Given the description of an element on the screen output the (x, y) to click on. 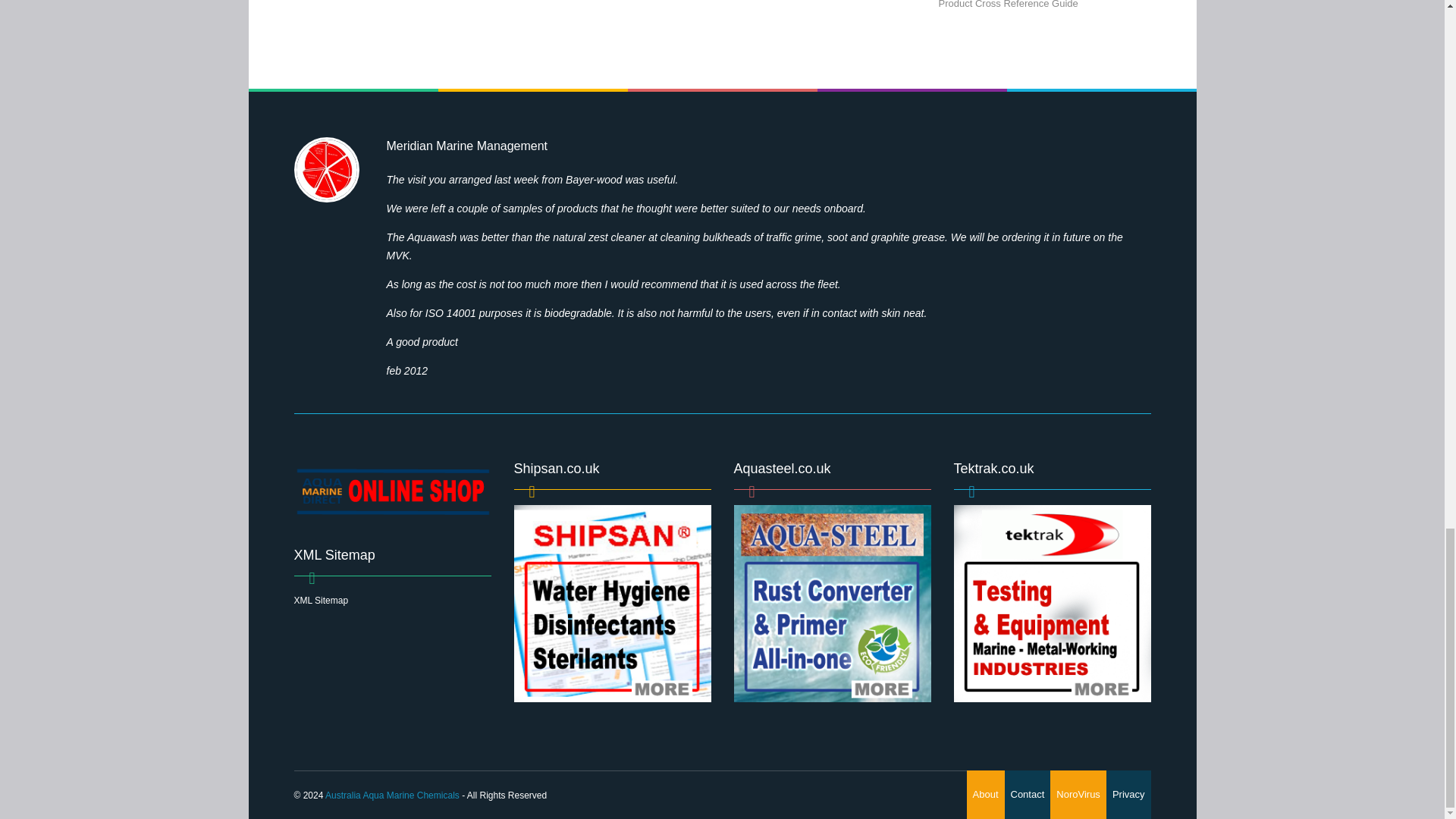
Shipsan - Ship Sanitation Certificate testing and compliance (612, 603)
XML Sitemap (321, 600)
Product Cross Reference Guide (1008, 4)
